Given the description of an element on the screen output the (x, y) to click on. 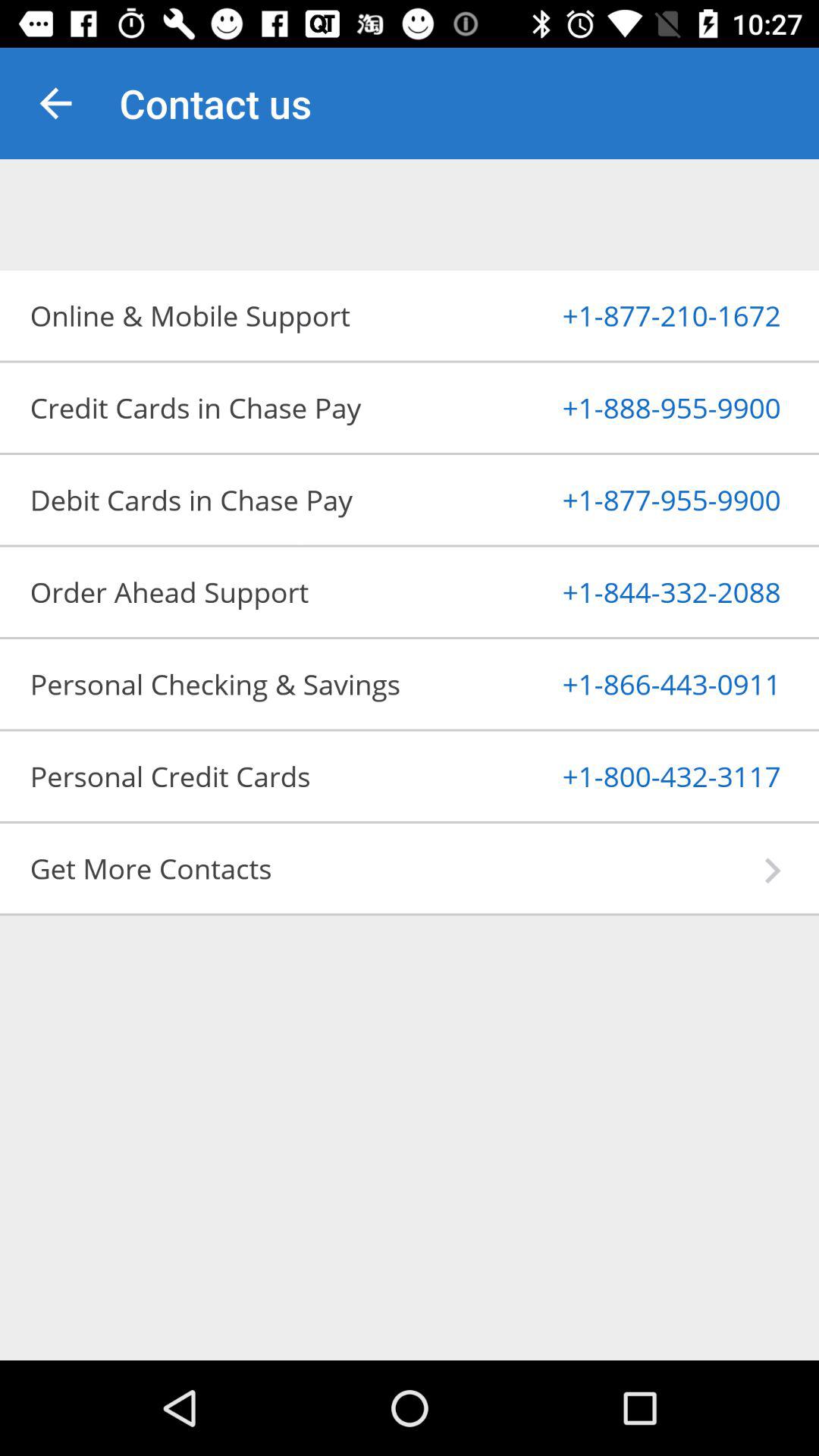
flip until 1 866 443 app (634, 683)
